Given the description of an element on the screen output the (x, y) to click on. 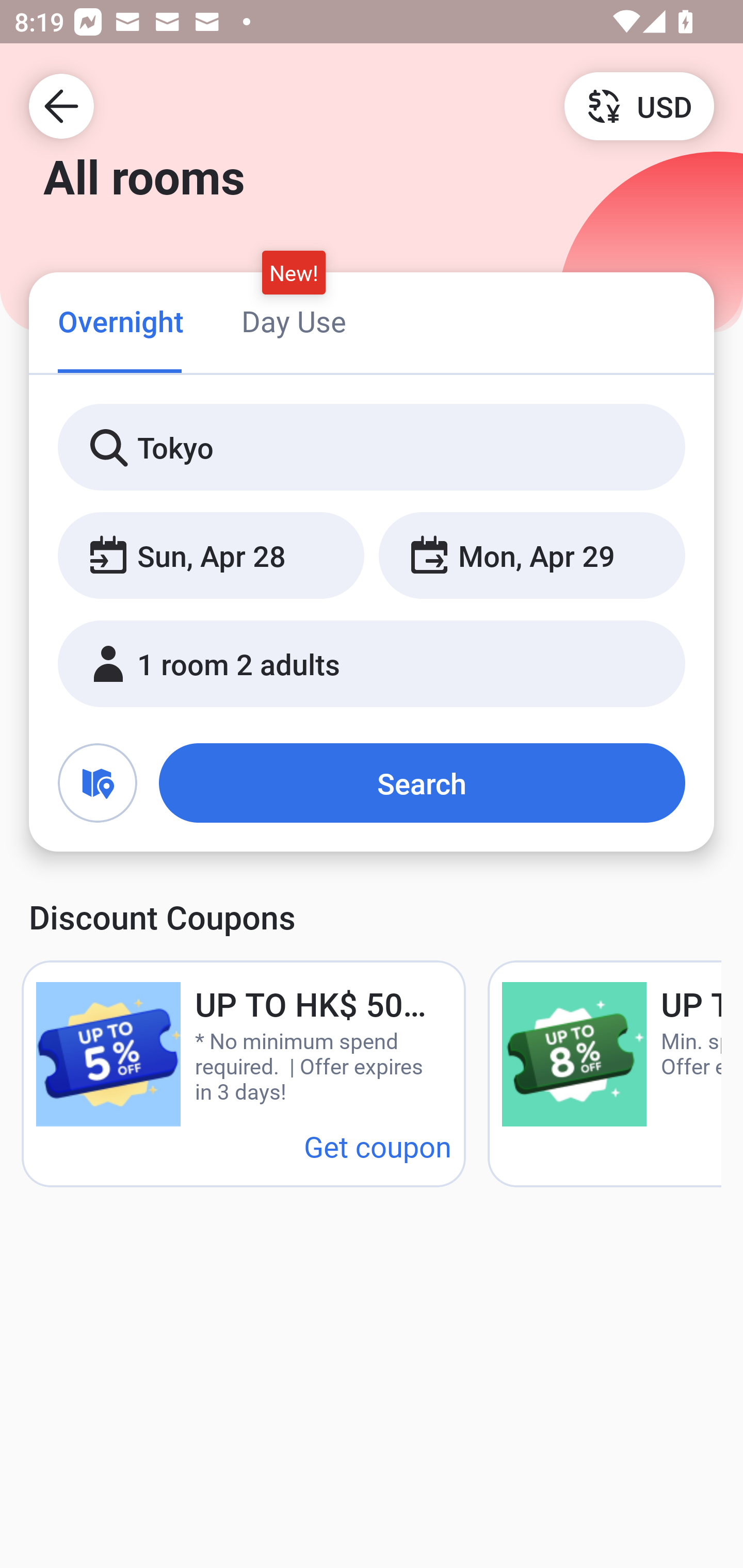
USD (639, 105)
New! (294, 272)
Day Use (293, 321)
Tokyo (371, 447)
Sun, Apr 28 (210, 555)
Mon, Apr 29 (531, 555)
1 room 2 adults (371, 663)
Search (422, 783)
Get coupon (377, 1146)
